Given the description of an element on the screen output the (x, y) to click on. 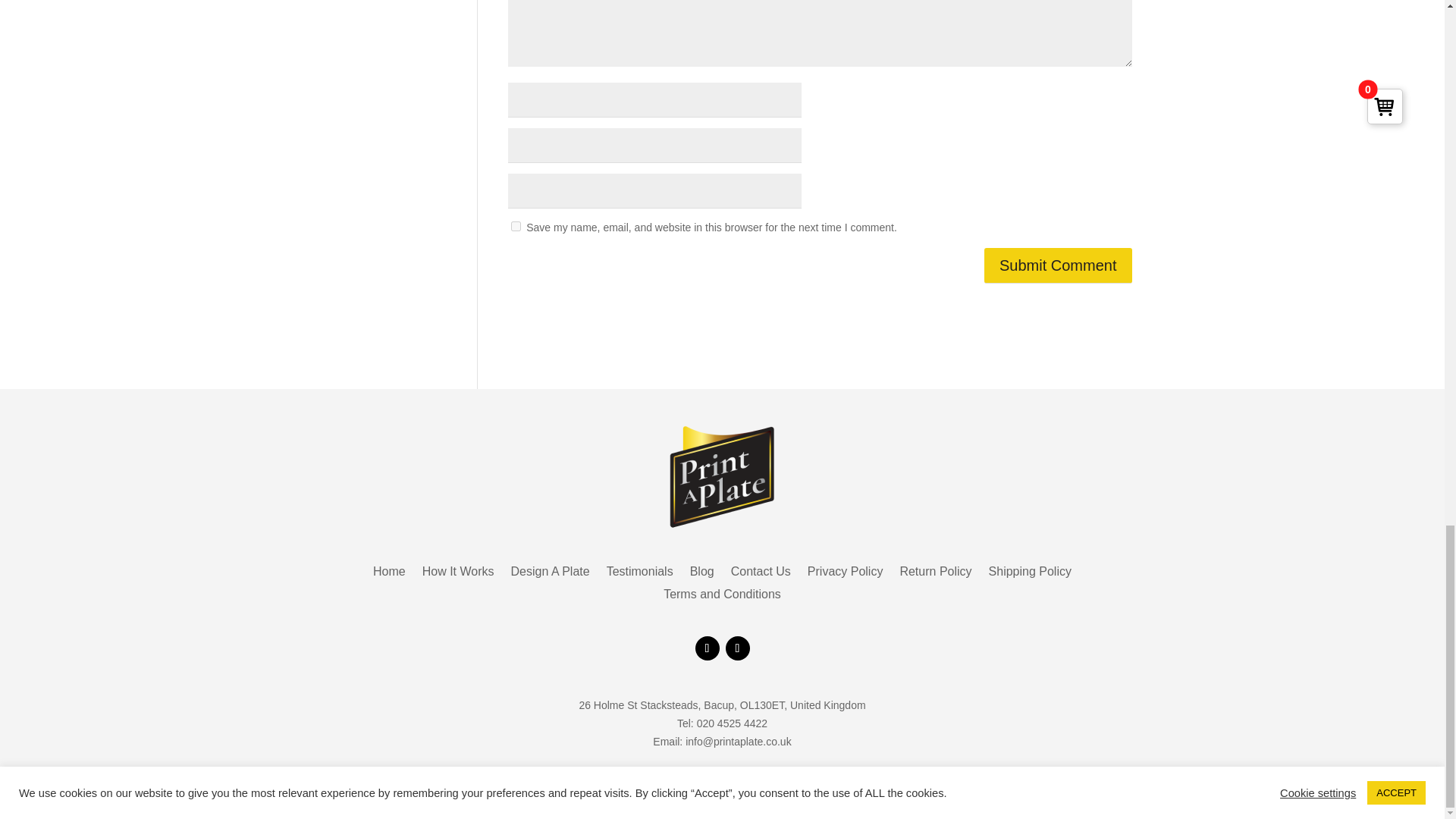
Follow on Instagram (737, 648)
Submit Comment (1058, 265)
Follow on Twitter (706, 648)
Header (722, 477)
yes (516, 225)
